Given the description of an element on the screen output the (x, y) to click on. 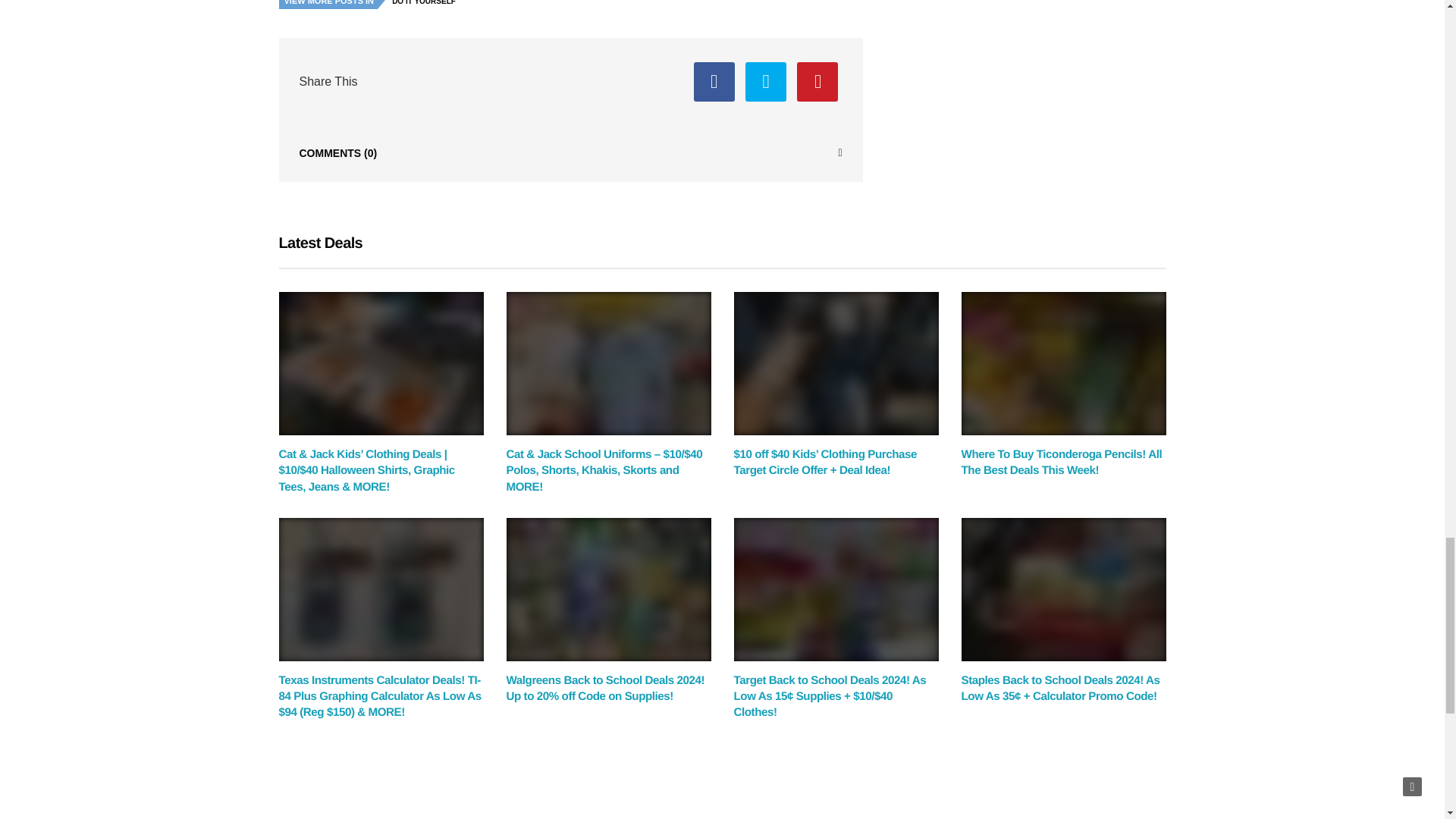
Do It Yourself (427, 5)
